Given the description of an element on the screen output the (x, y) to click on. 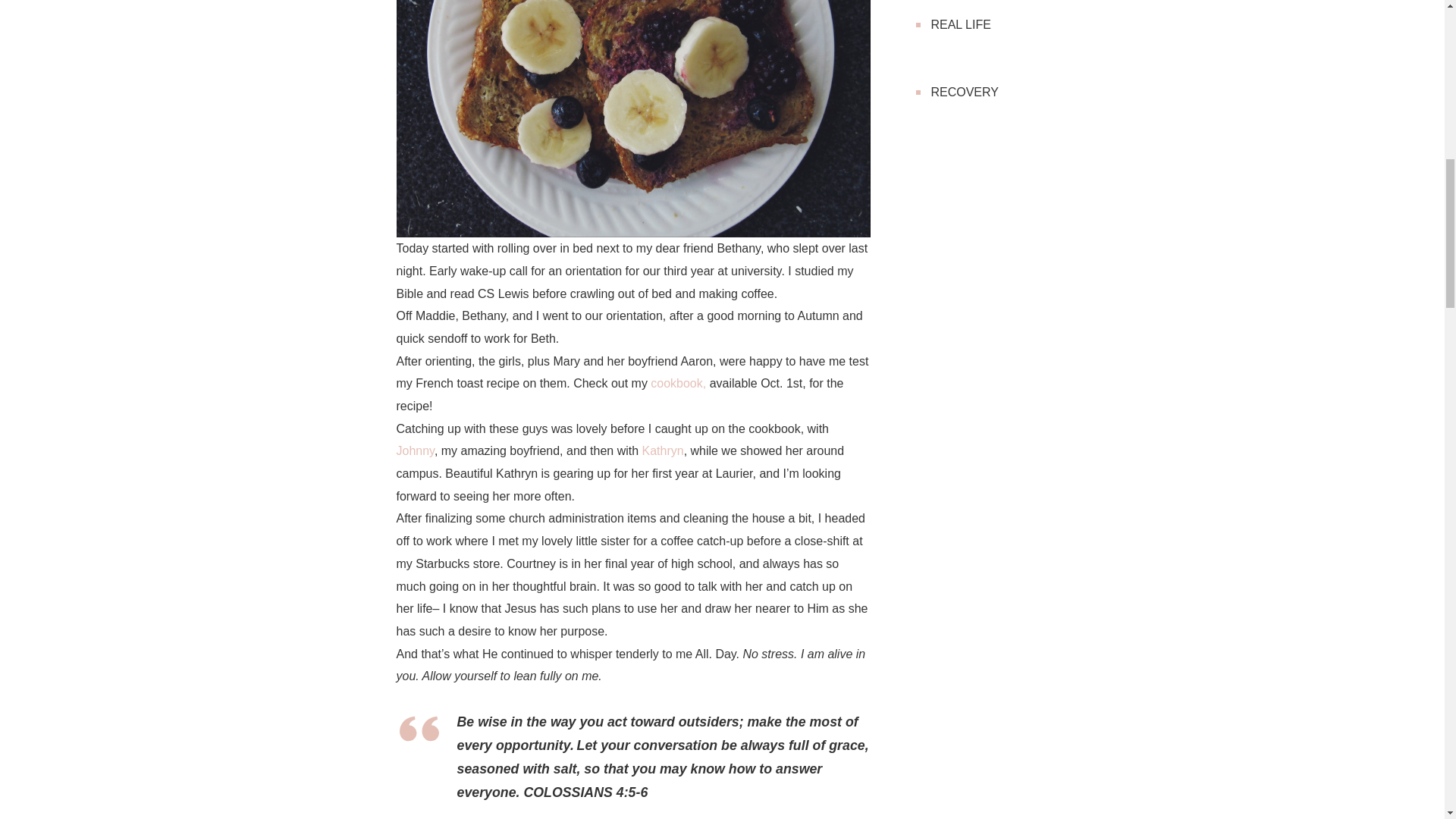
Kathryn (663, 450)
Johnny (414, 450)
cookbook, (678, 382)
